Given the description of an element on the screen output the (x, y) to click on. 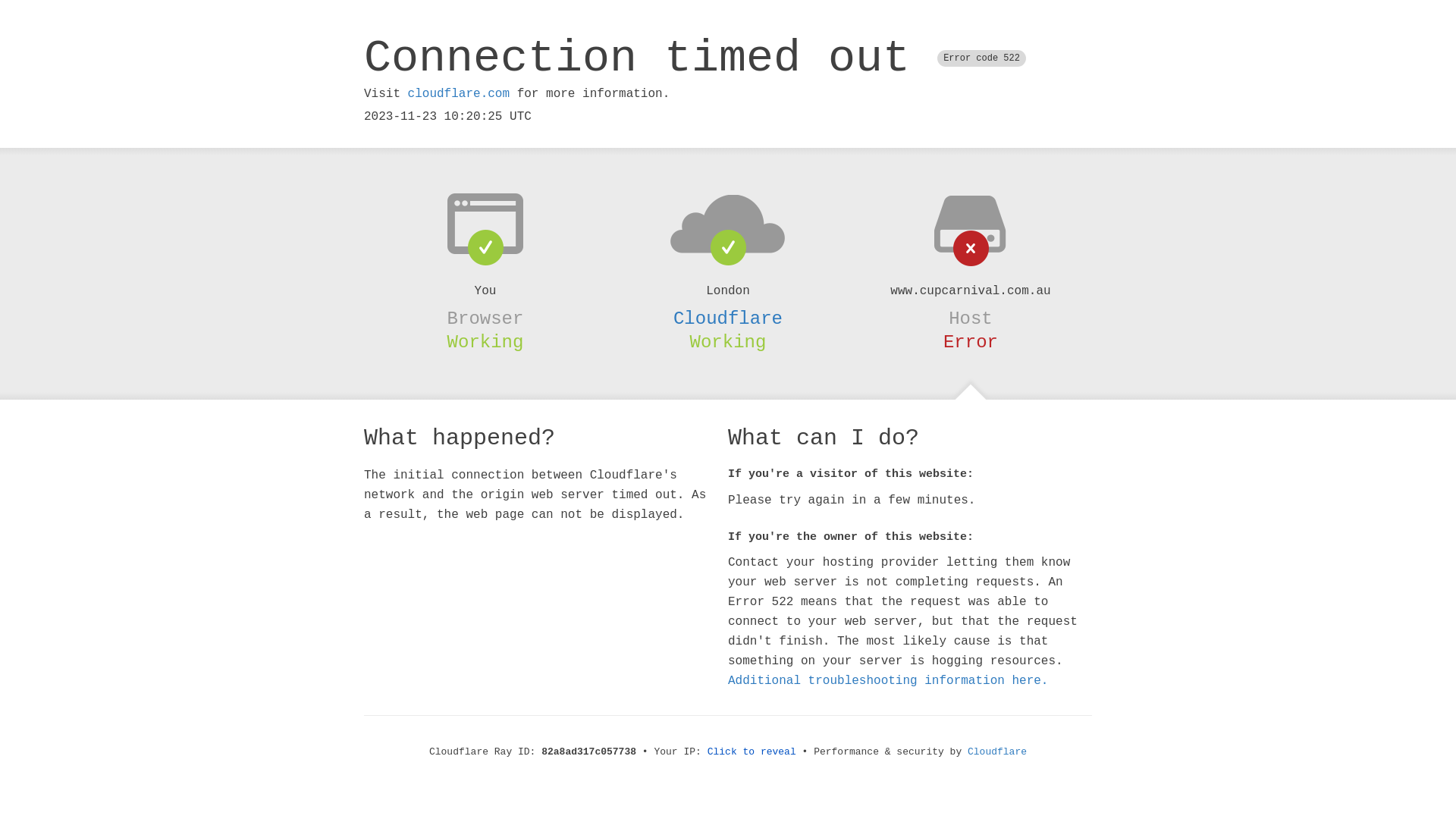
Cloudflare Element type: text (727, 318)
Cloudflare Element type: text (996, 751)
cloudflare.com Element type: text (458, 93)
Additional troubleshooting information here. Element type: text (888, 680)
Click to reveal Element type: text (751, 751)
